Given the description of an element on the screen output the (x, y) to click on. 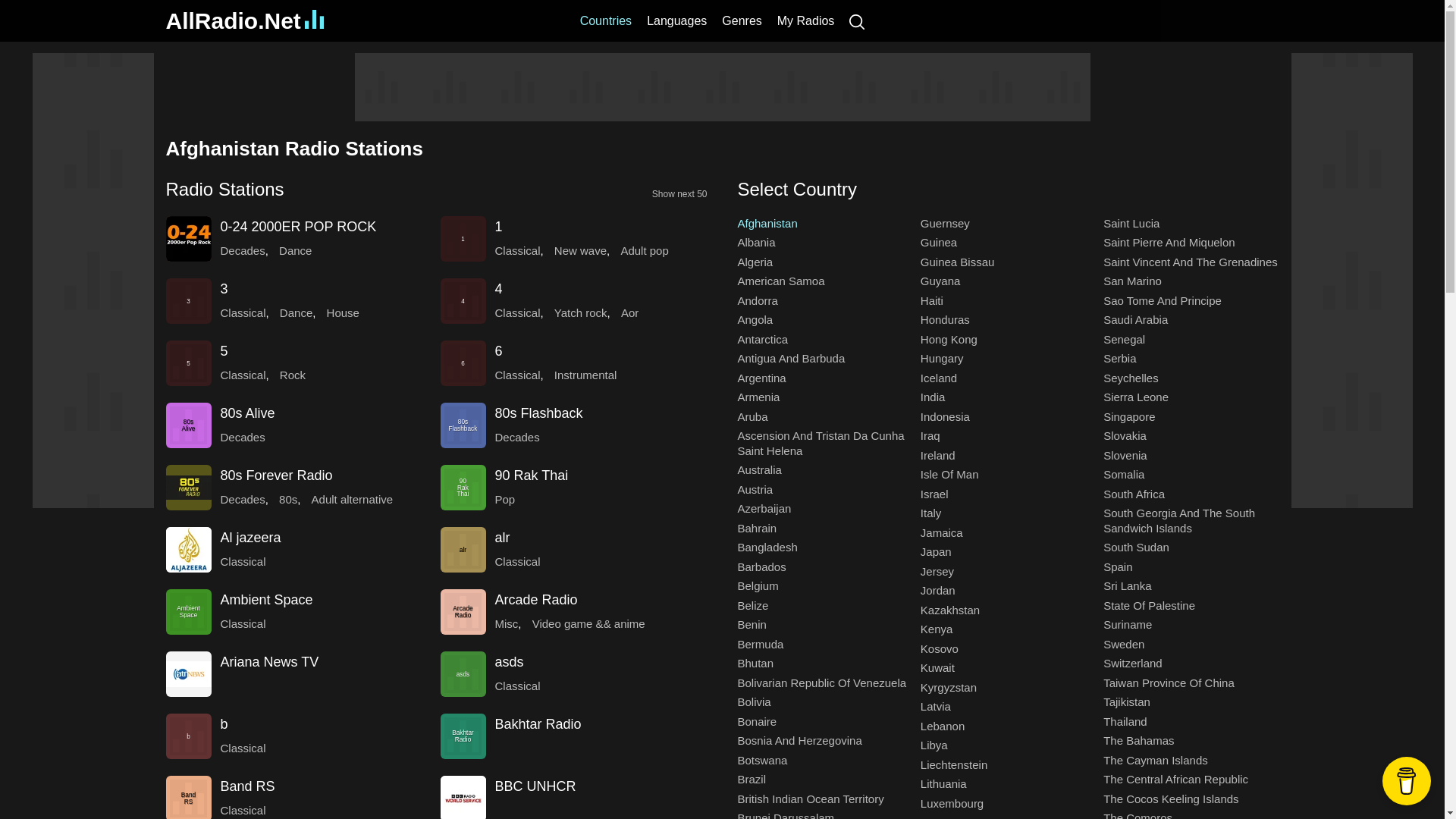
AllRadio.Net (244, 20)
80s Flashback (461, 424)
New wave (580, 250)
Dance (296, 312)
4 (498, 288)
3 (188, 300)
Adult pop (644, 250)
House (342, 312)
Languages (676, 20)
Yatch rock (580, 312)
New wave (580, 250)
6 (461, 362)
80s Alive (188, 424)
Advertisement (722, 87)
Aor (630, 312)
